Given the description of an element on the screen output the (x, y) to click on. 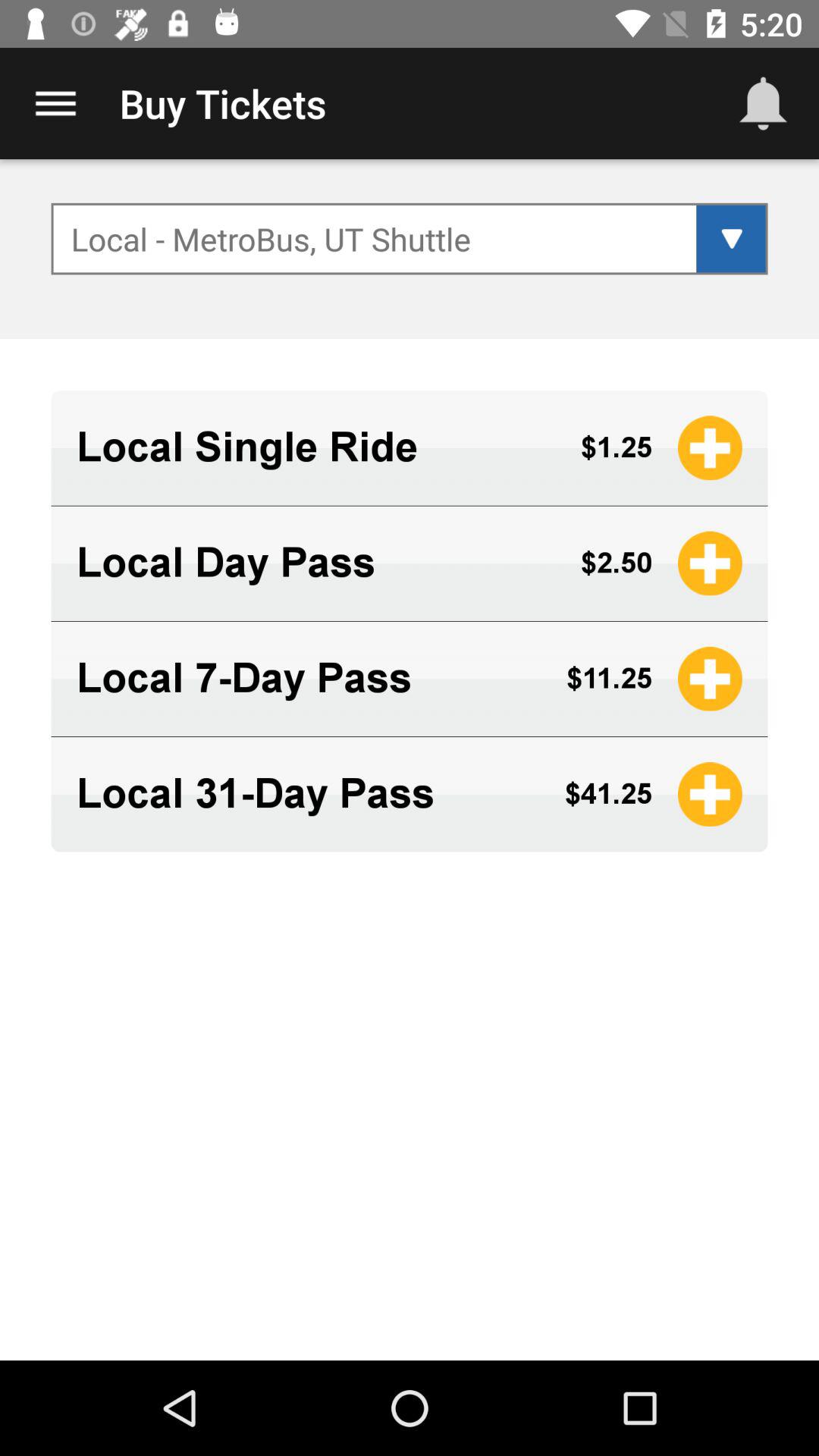
tap icon next to the local day pass icon (616, 563)
